Given the description of an element on the screen output the (x, y) to click on. 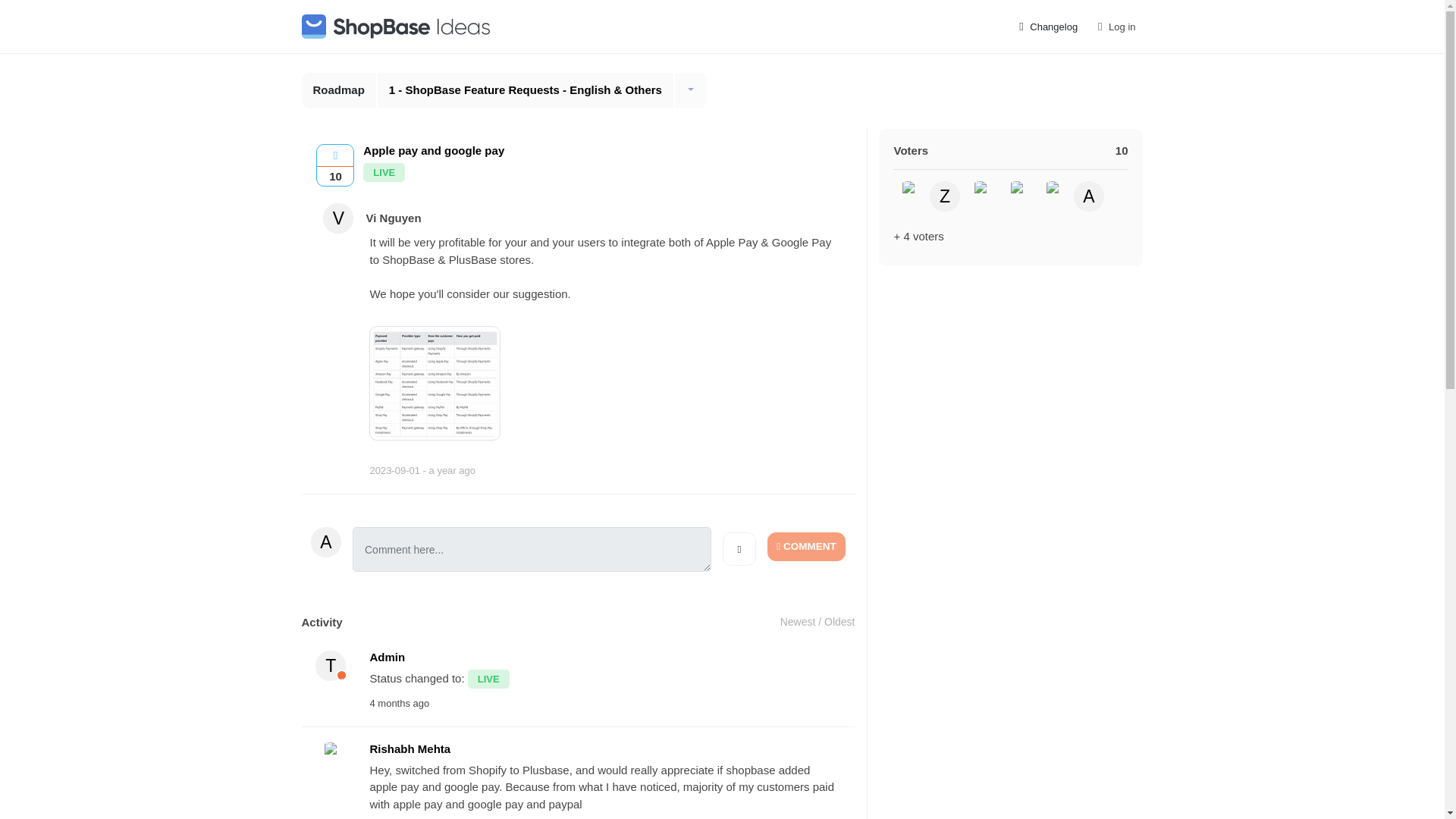
2023-09-01 09:54 (422, 470)
COMMENT (806, 546)
Minh Duc Le (980, 195)
2024-04-16 11:50 (399, 703)
Show oldest comments first (839, 621)
Changelog (1047, 26)
Log in (1114, 26)
Roadmap (339, 90)
Admin (330, 665)
Zain Amir (944, 195)
anand kerai (1088, 195)
Apple pay and google pay (440, 385)
Vi Nguyen (338, 218)
yassine mezghanni (1051, 195)
Show newest comments first (797, 621)
